Given the description of an element on the screen output the (x, y) to click on. 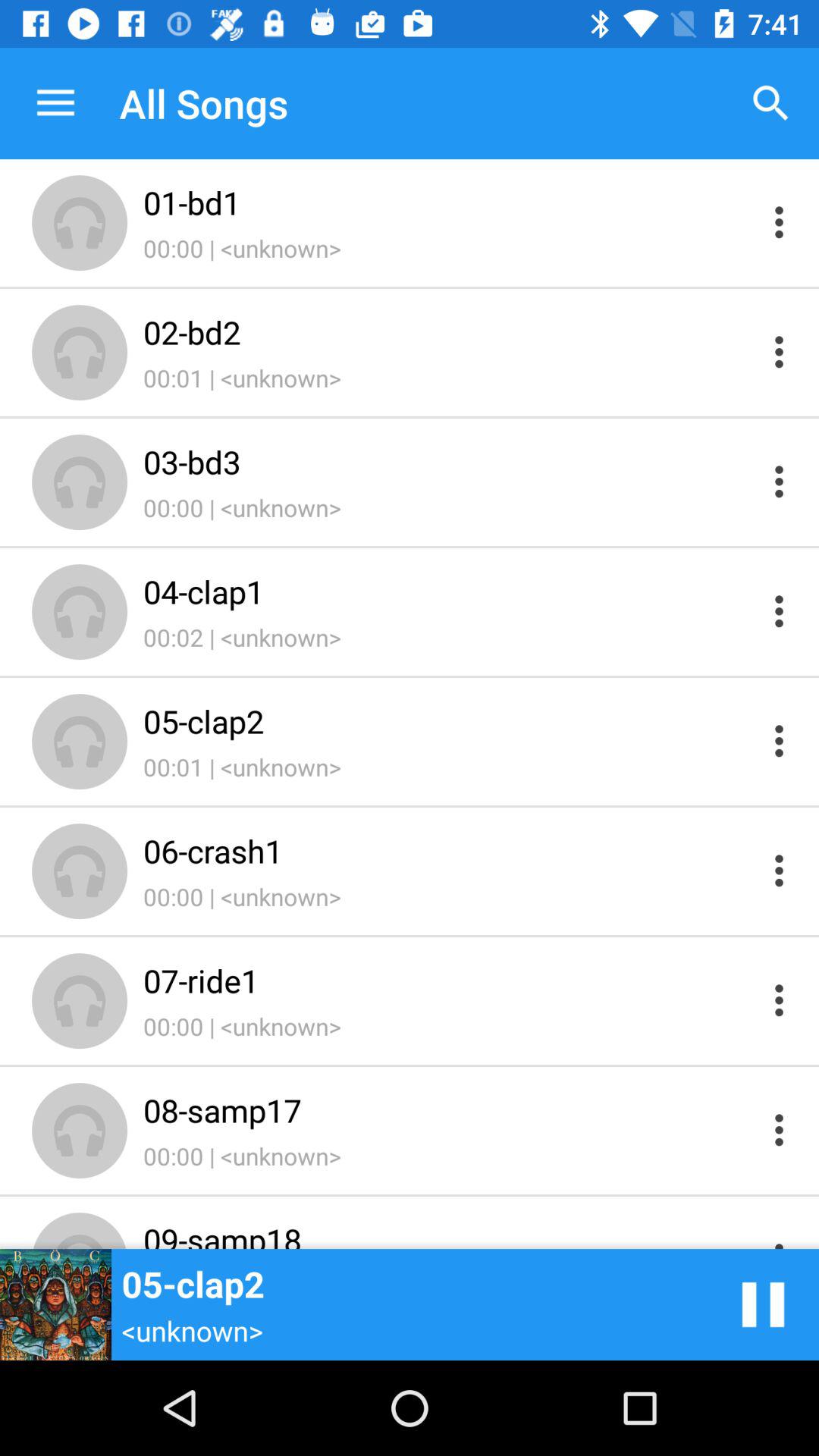
more options (779, 1000)
